Given the description of an element on the screen output the (x, y) to click on. 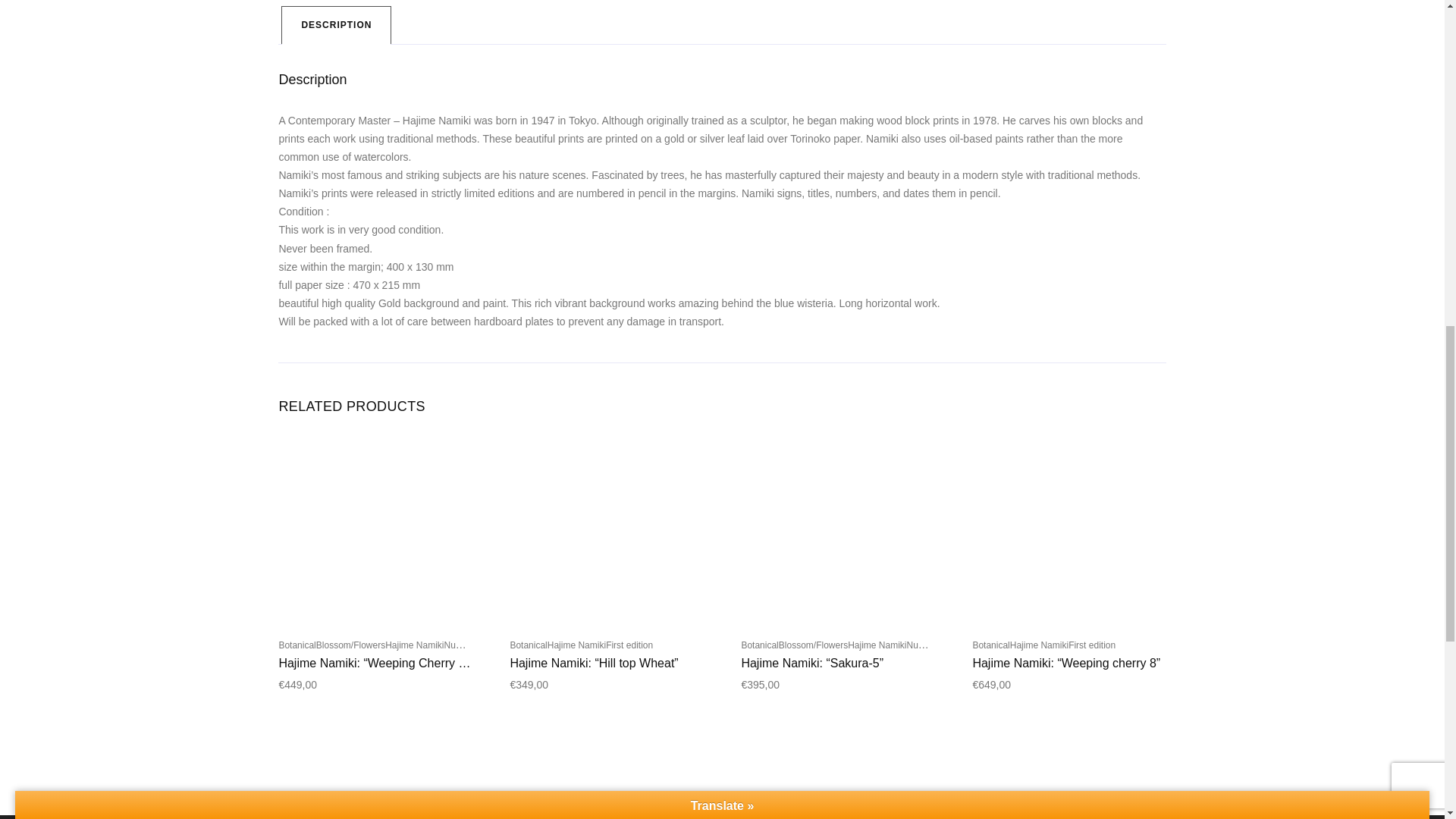
Hajime Namiki (414, 644)
Hajime Namiki (576, 644)
DESCRIPTION (336, 25)
Botanical (759, 644)
Numbered edition (941, 644)
Hajime Namiki (876, 644)
Numbered edition (479, 644)
Botanical (528, 644)
Botanical (296, 644)
First edition (628, 644)
